Given the description of an element on the screen output the (x, y) to click on. 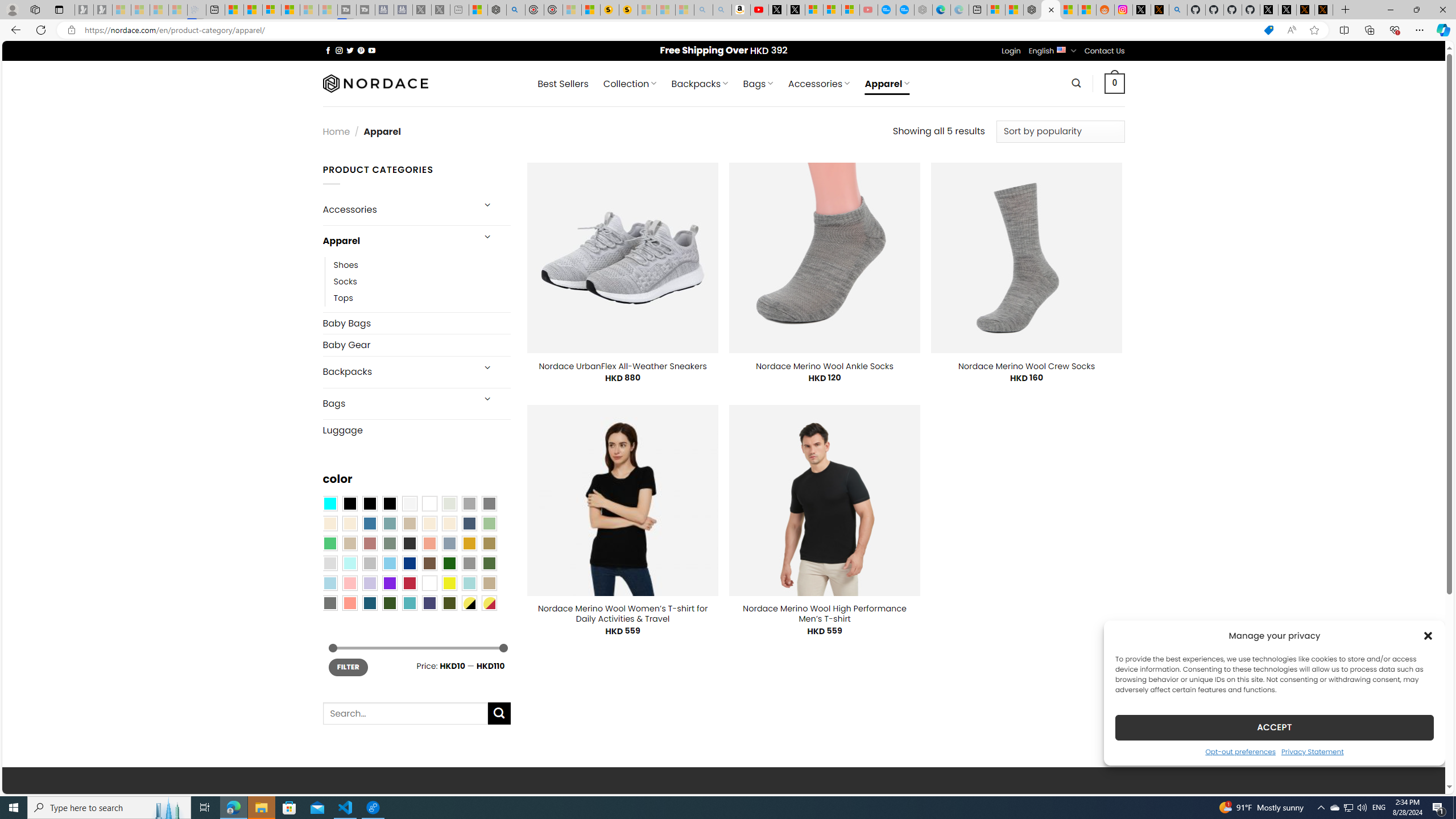
Backpacks (397, 372)
Baby Bags (416, 323)
Shop order (1060, 131)
Gold (468, 542)
Streaming Coverage | T3 - Sleeping (347, 9)
Bags (397, 403)
Follow on Twitter (349, 49)
GitHub (@github) / X (1287, 9)
Tops (343, 297)
Login (1010, 50)
